Given the description of an element on the screen output the (x, y) to click on. 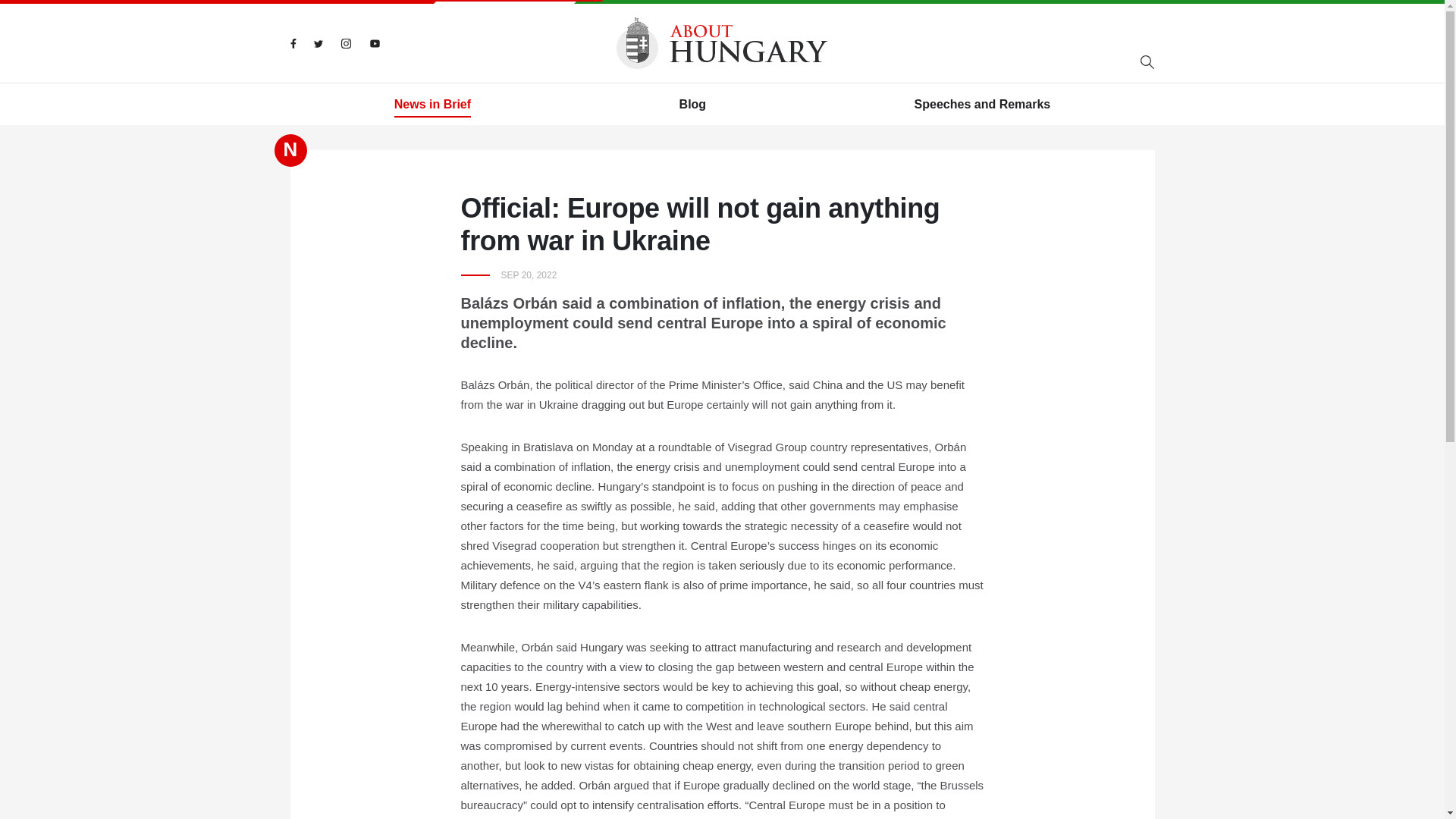
Instagram icon (344, 43)
Home page (721, 42)
Blog (692, 104)
Speeches and Remarks (982, 104)
News in Brief (432, 104)
Twitter icon (318, 43)
Facebook icon (292, 43)
News in Brief (432, 104)
Speeches and Remarks (982, 104)
Youtube icon (374, 43)
Blog (692, 104)
